Given the description of an element on the screen output the (x, y) to click on. 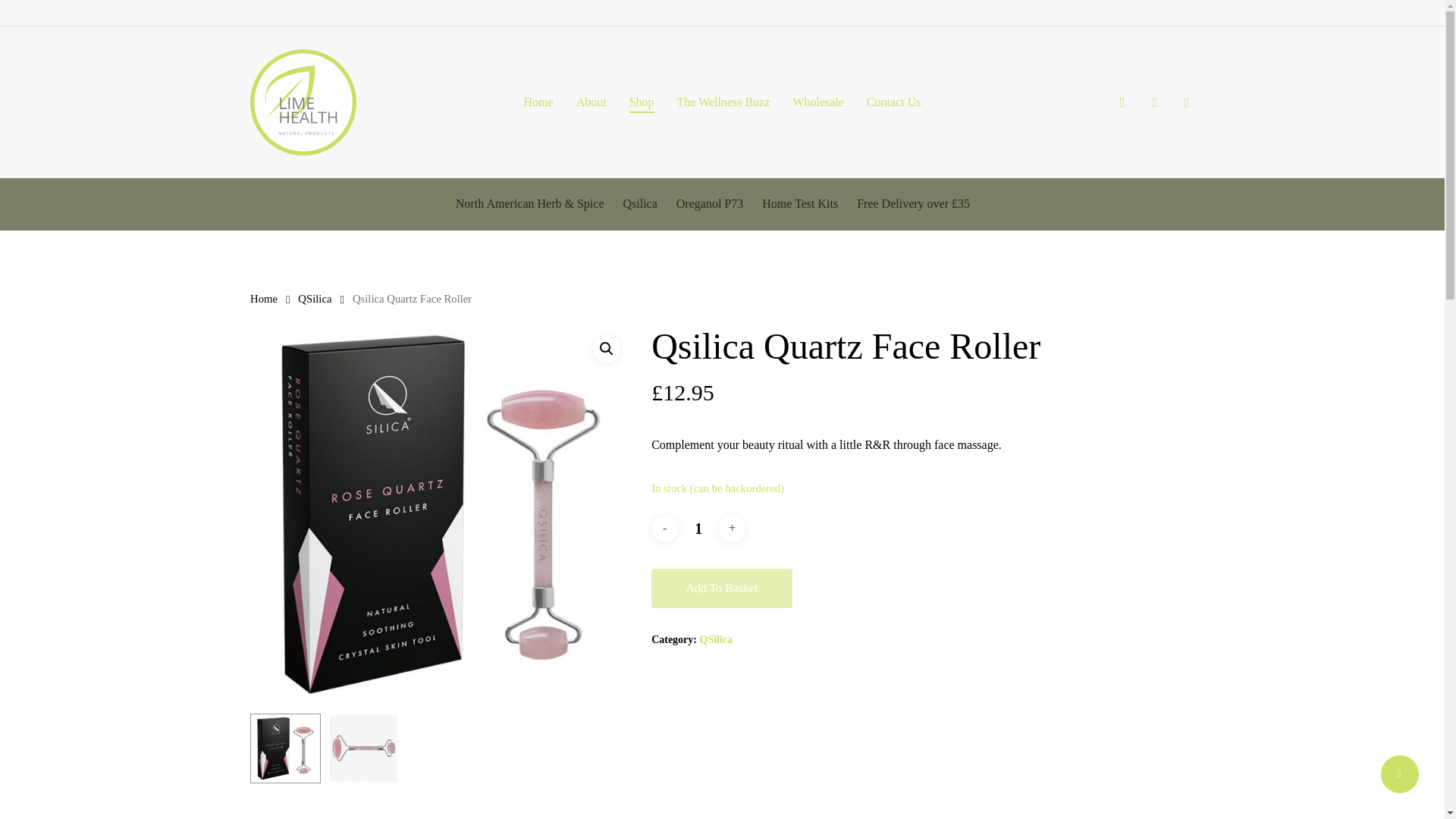
1 (698, 528)
account (1154, 102)
Home (264, 298)
QSilica (715, 639)
search (1122, 102)
Contact Us (893, 102)
- (664, 528)
Home Test Kits (799, 203)
Add To Basket (721, 588)
QSilica (314, 298)
About (591, 102)
Oreganol P73 (709, 203)
Wholesale (818, 102)
Shop (640, 102)
Home (538, 102)
